Given the description of an element on the screen output the (x, y) to click on. 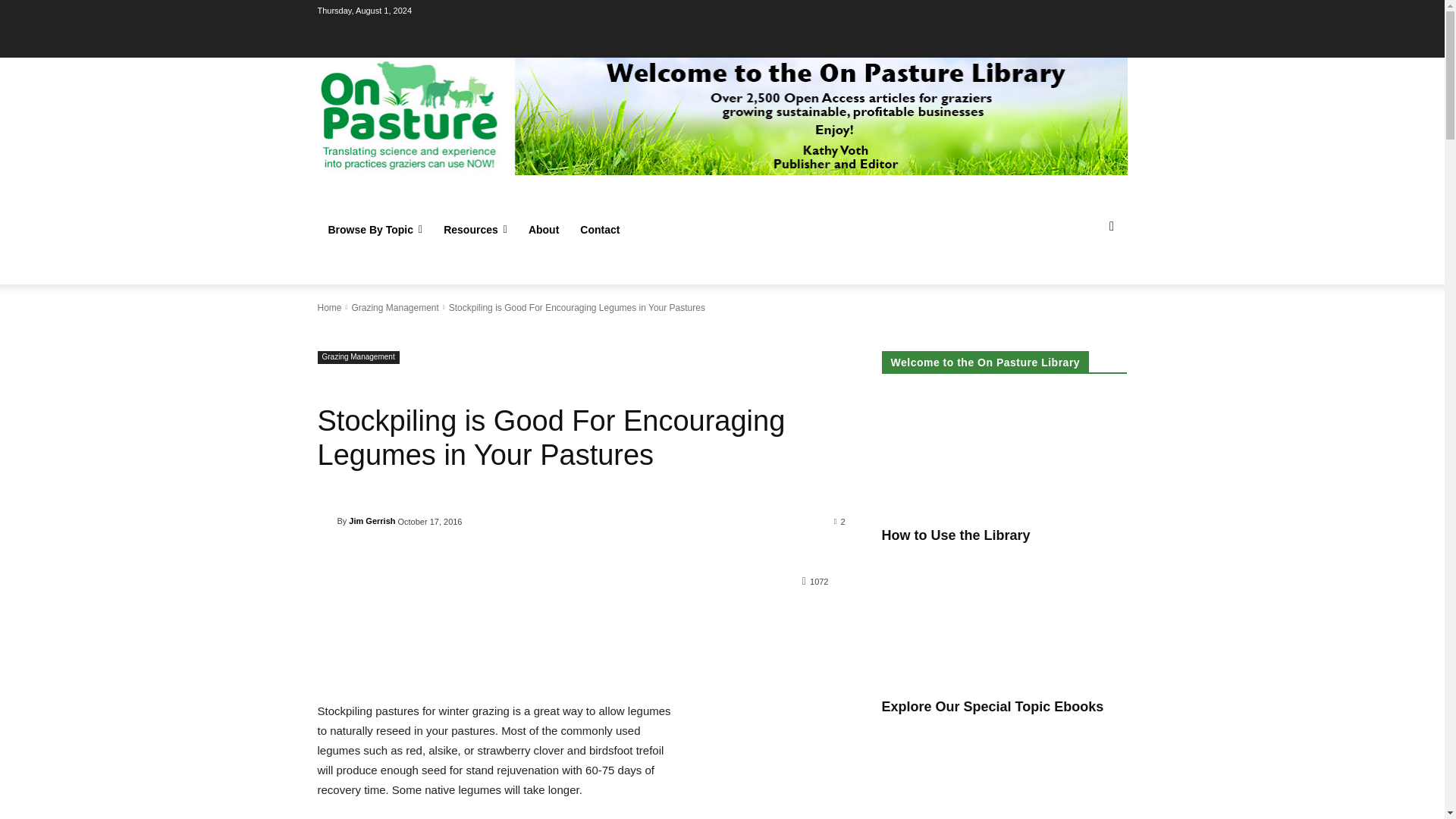
View all posts in Grazing Management (394, 307)
Jim Gerrish (326, 520)
